Given the description of an element on the screen output the (x, y) to click on. 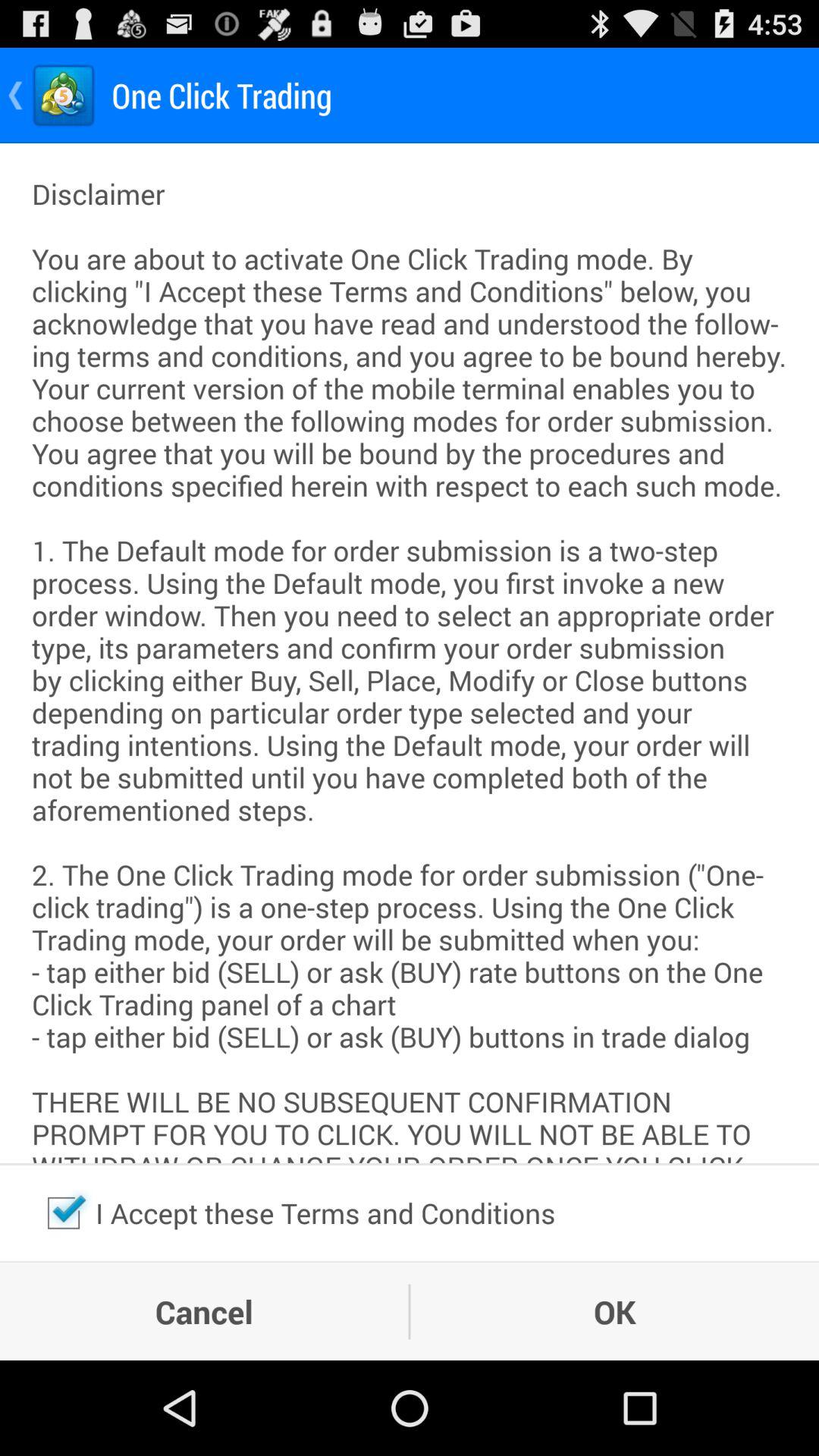
checking box (63, 1212)
